Given the description of an element on the screen output the (x, y) to click on. 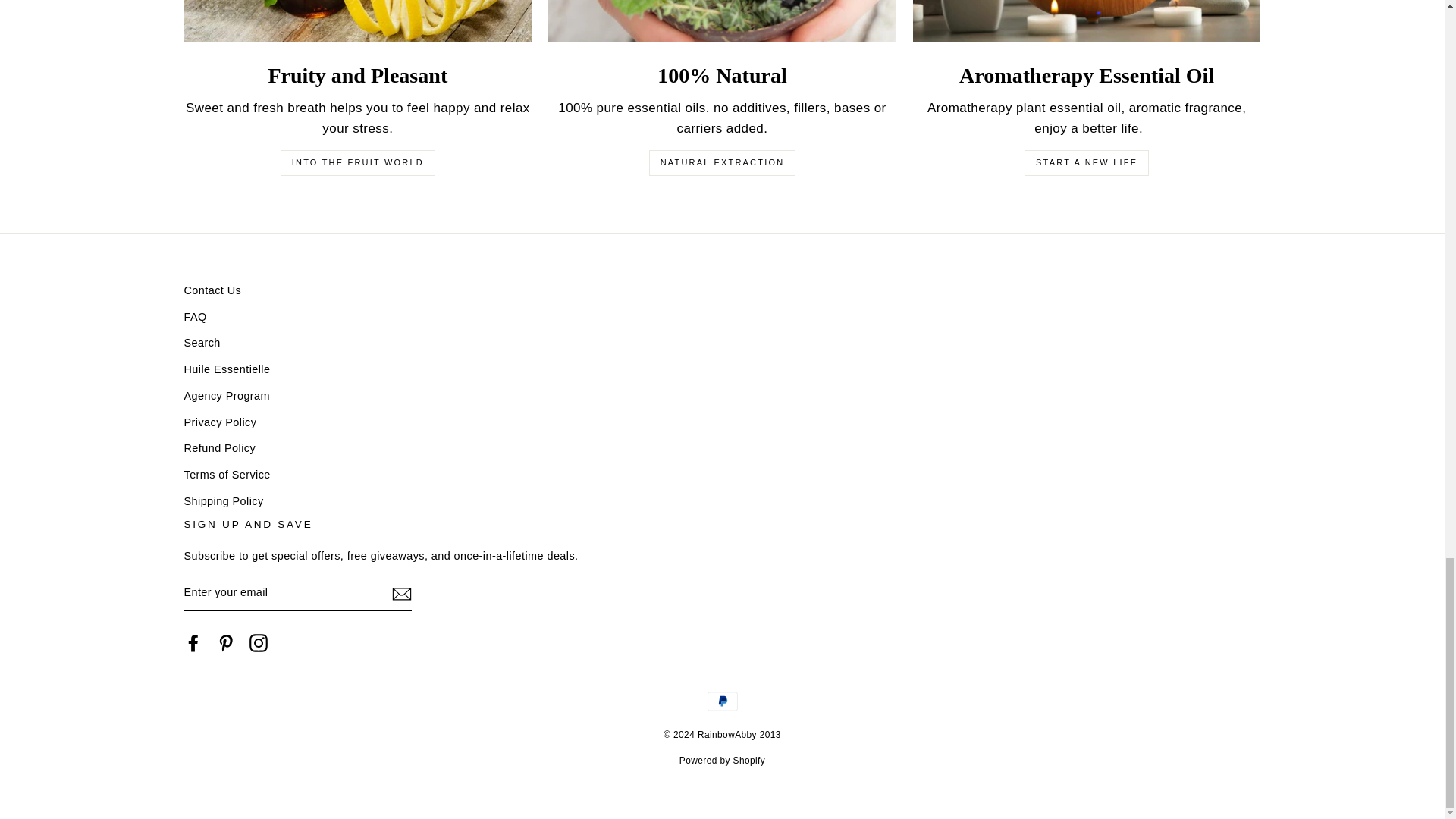
RainbowAbby 2013 on Instagram (257, 642)
PayPal (721, 701)
RainbowAbby 2013 on Facebook (192, 642)
RainbowAbby 2013 on Pinterest (225, 642)
